Given the description of an element on the screen output the (x, y) to click on. 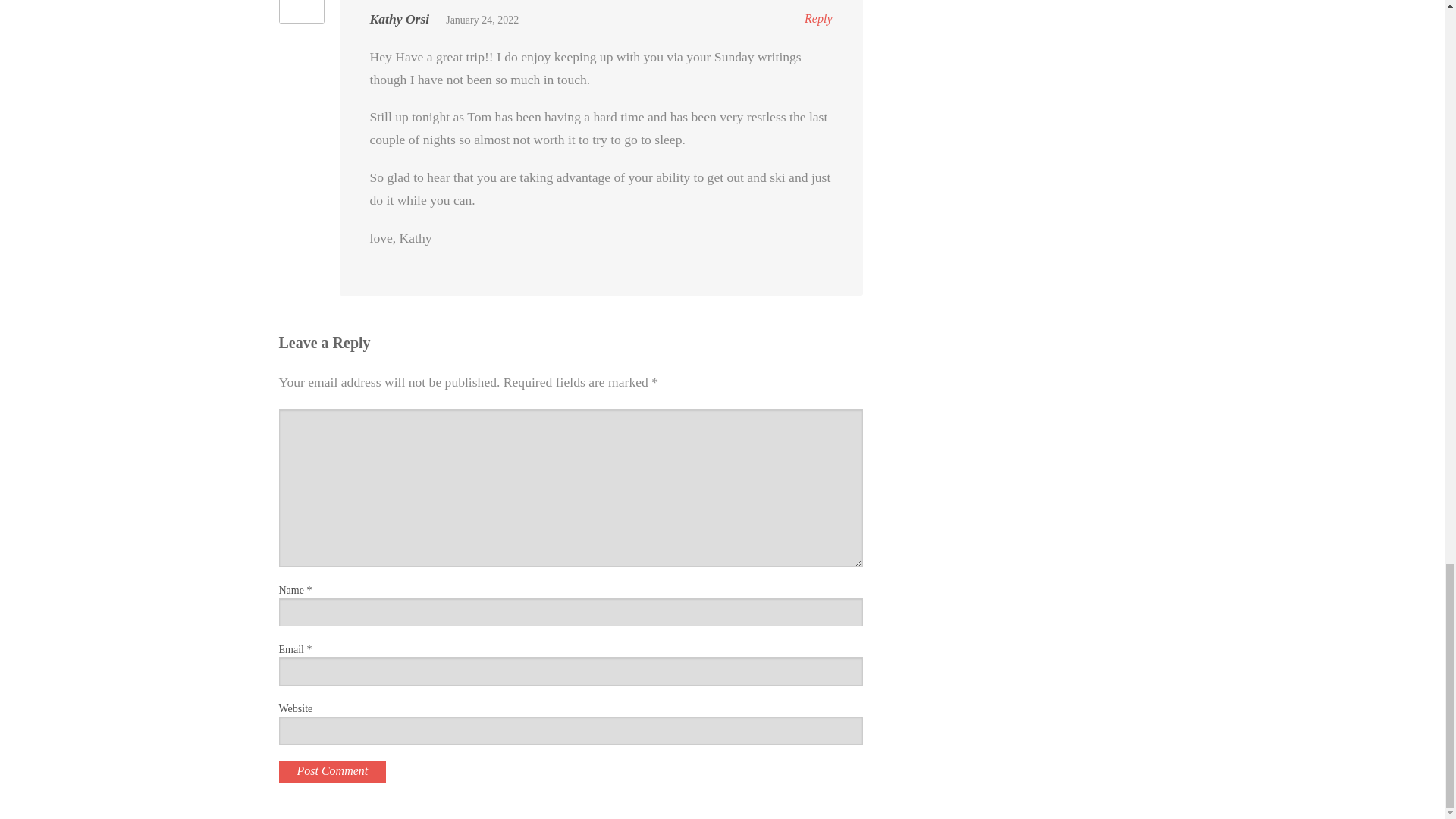
Post Comment (333, 771)
Post Comment (333, 771)
Reply (818, 18)
